Given the description of an element on the screen output the (x, y) to click on. 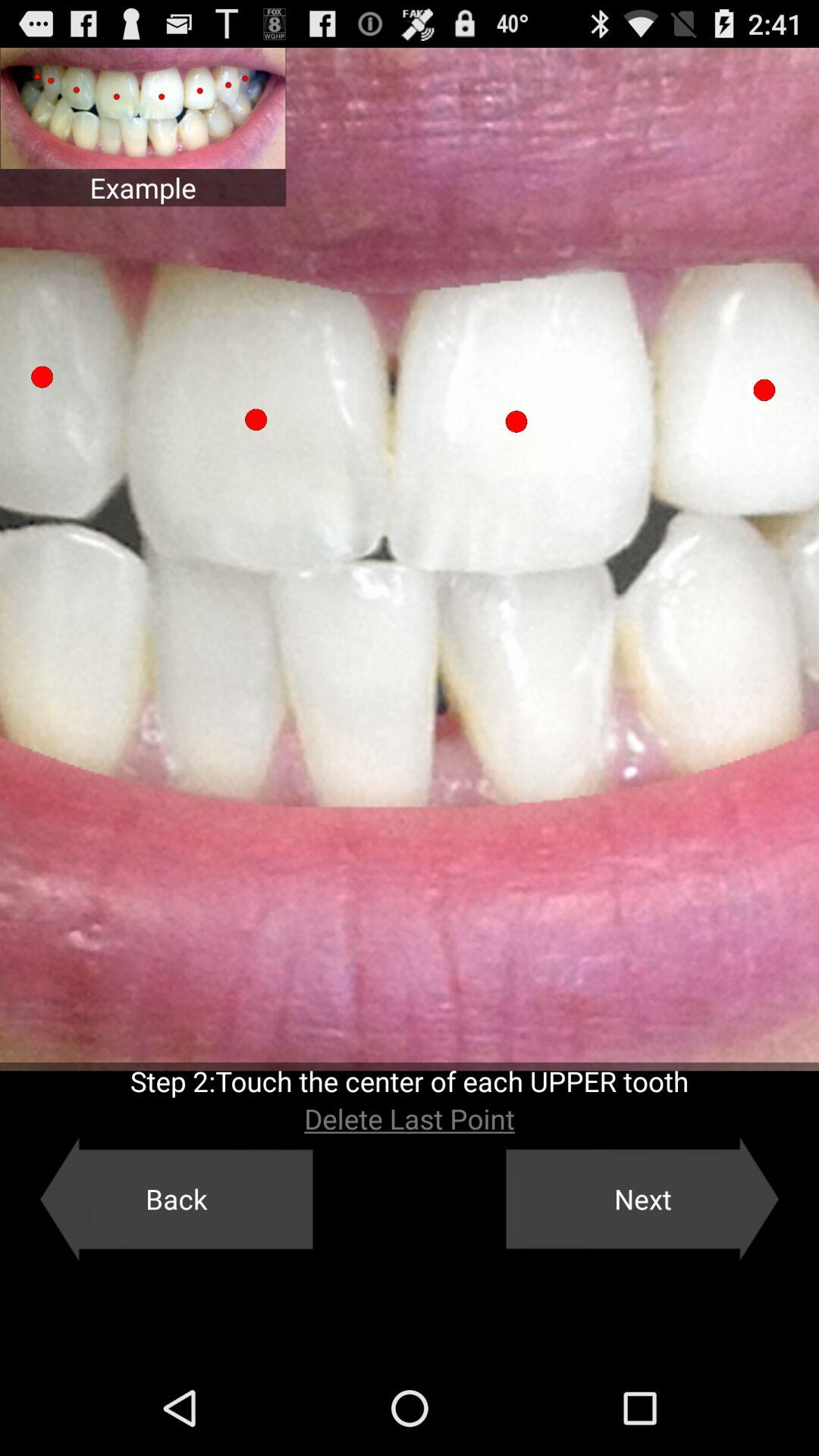
launch the delete last point icon (409, 1118)
